Given the description of an element on the screen output the (x, y) to click on. 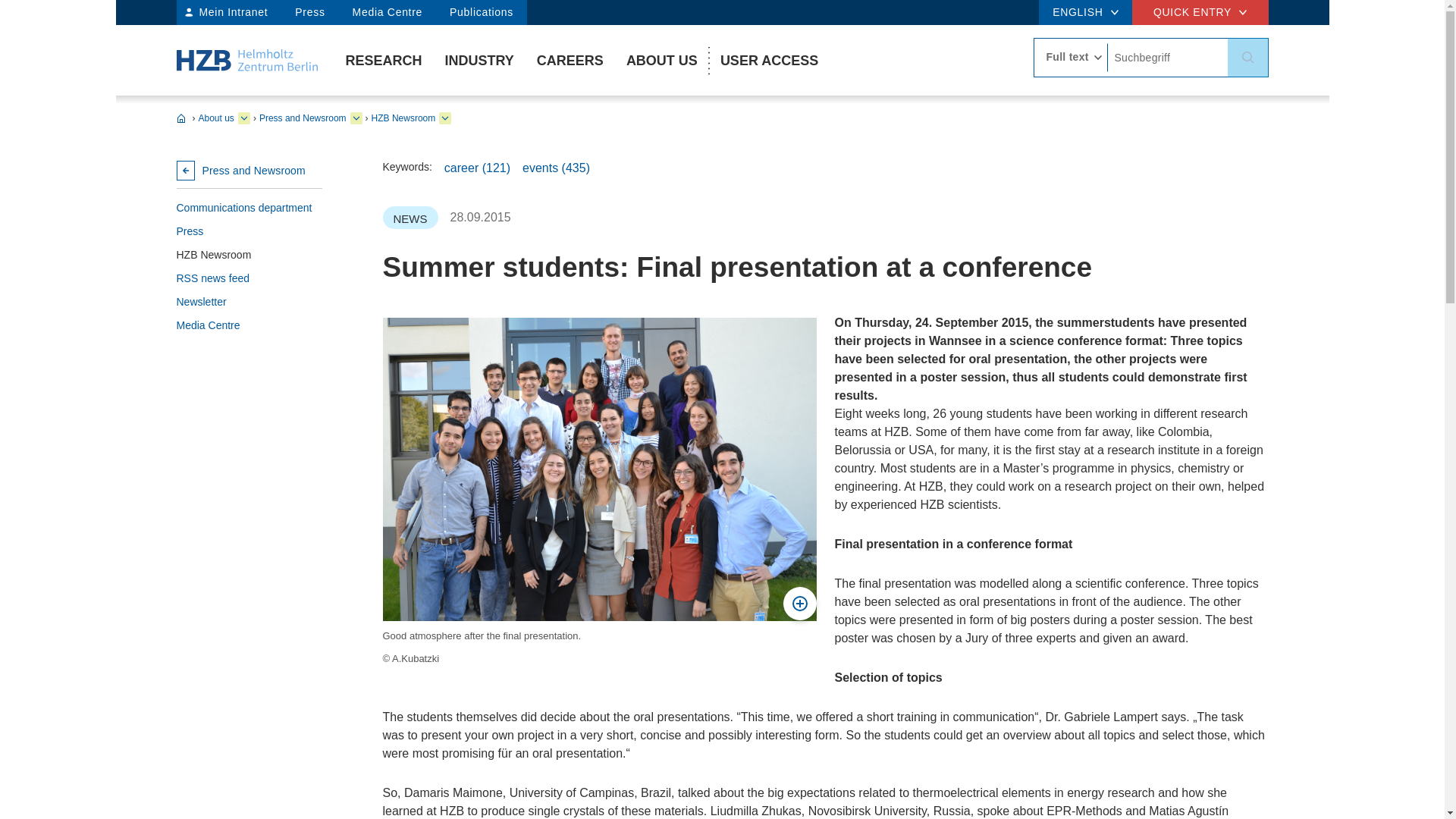
Media Centre (248, 325)
HZB Newsroom (248, 254)
Press (309, 12)
Newsletter (248, 301)
Home (246, 60)
Media Centre (387, 12)
Mein Intranet (228, 12)
Press and Newsroom (248, 170)
Publications (481, 12)
RSS news feed (248, 278)
